Given the description of an element on the screen output the (x, y) to click on. 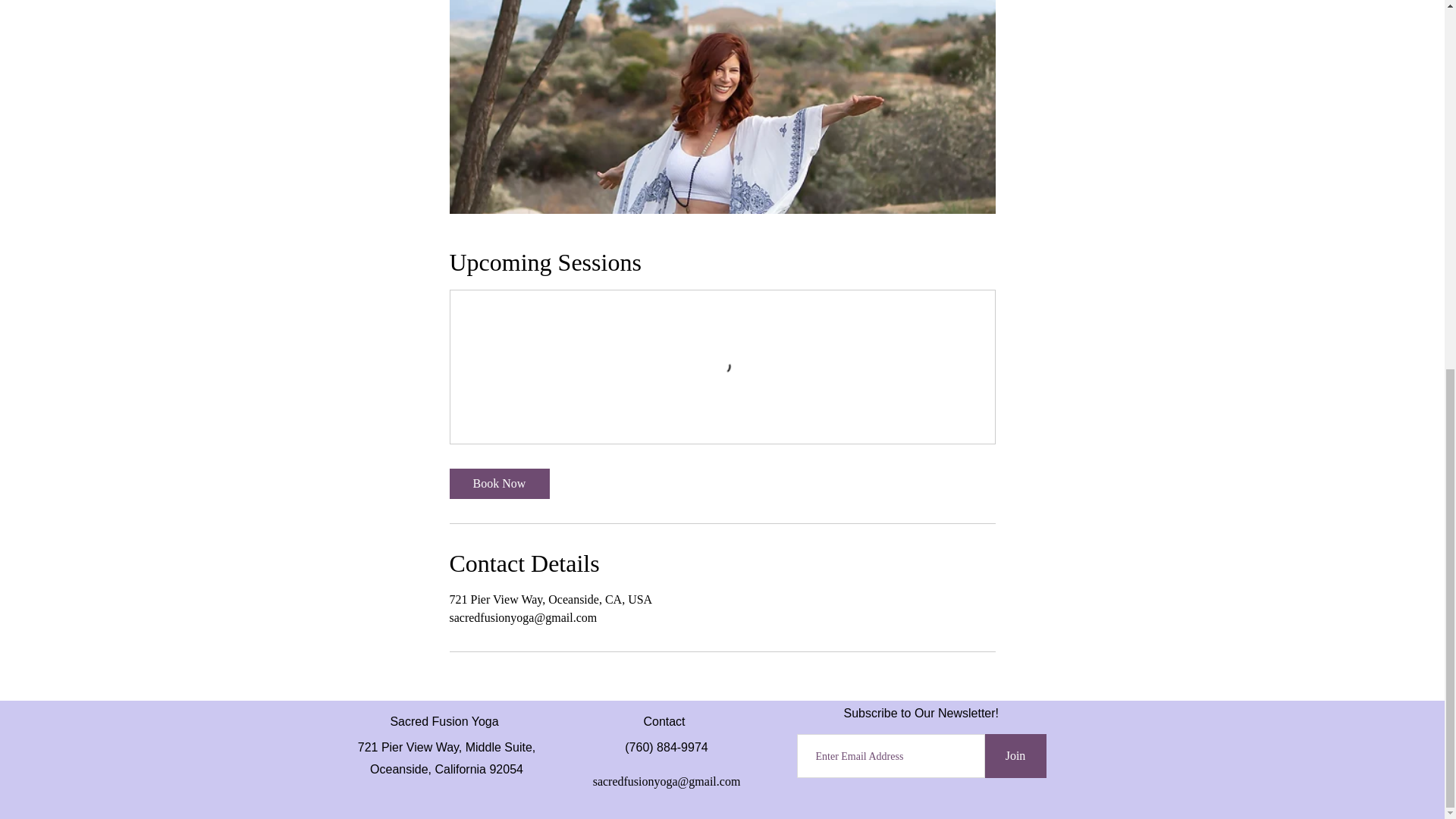
Book Now (498, 483)
Join (1014, 755)
